Given the description of an element on the screen output the (x, y) to click on. 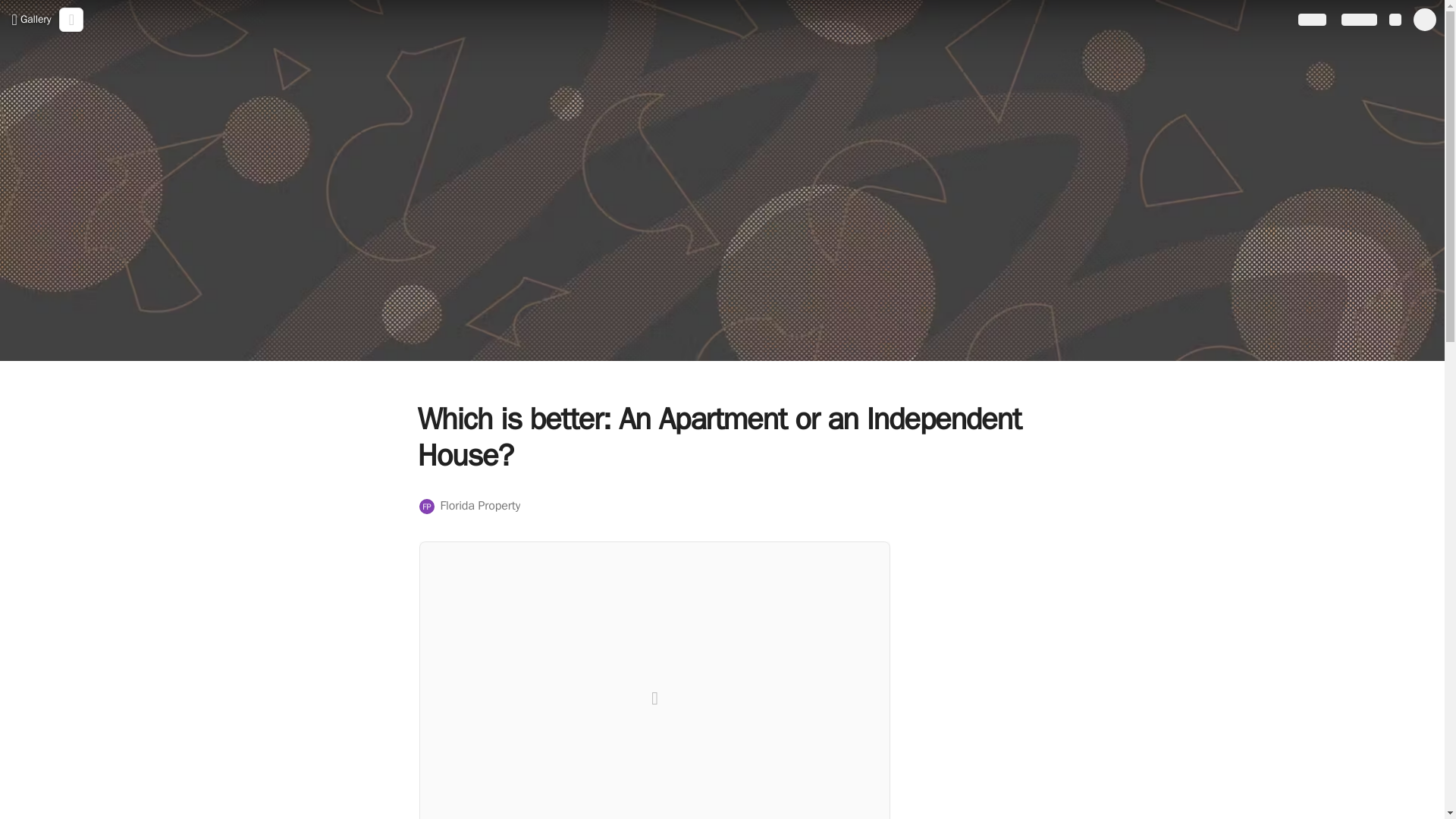
Gallery (468, 505)
FP (30, 19)
